Given the description of an element on the screen output the (x, y) to click on. 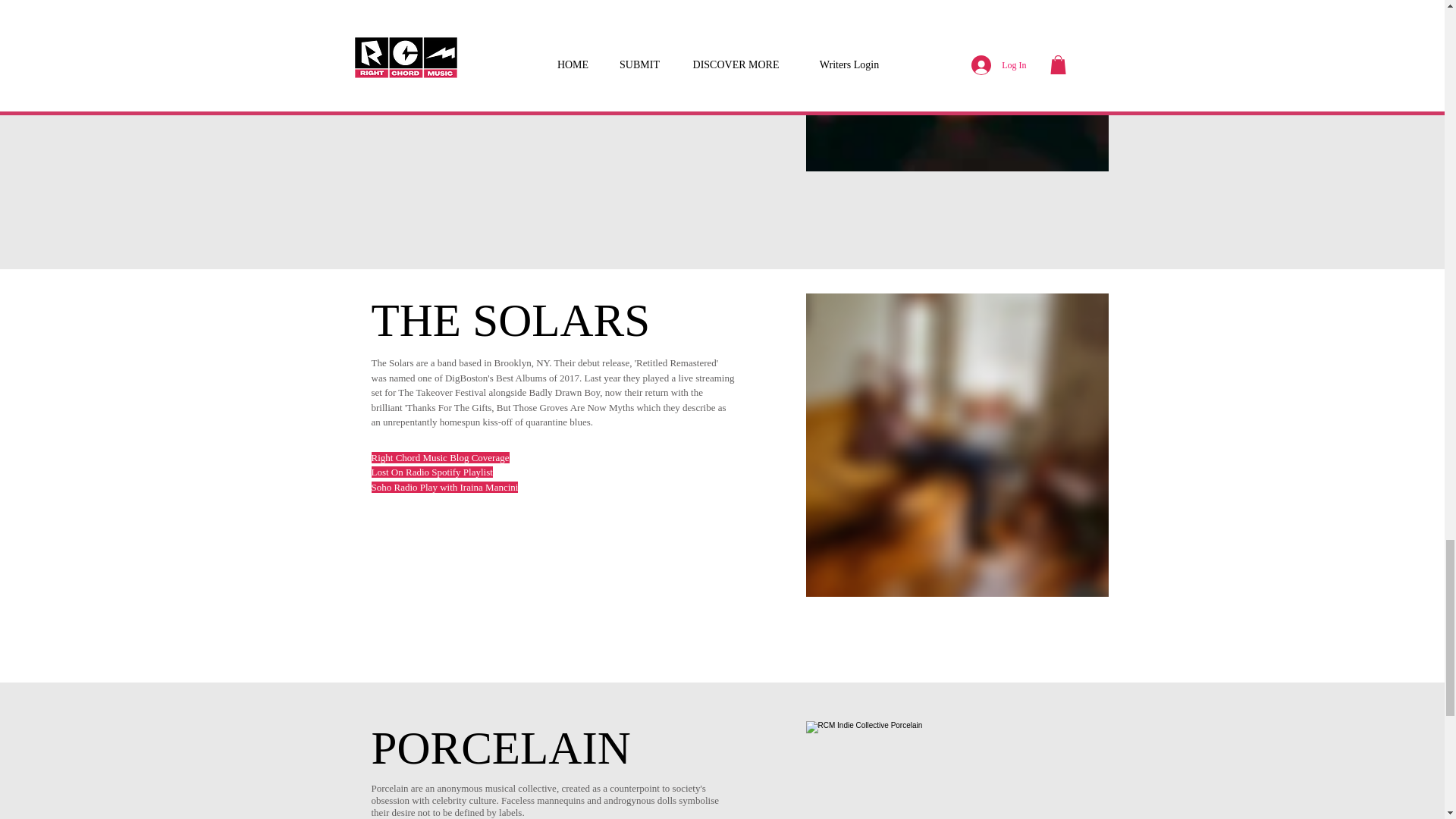
Music In Isolation Blog Coverage (438, 61)
Right Chord Music Blog Coverage (440, 457)
Soho Radio Play with Iraina Mancini (444, 487)
We Make Music Instagram Post (434, 77)
Lost On Radio Spotify Playlist (432, 32)
Lost On Radio Spotify Playlist (432, 471)
Right Chord Music Blog Coverage (440, 18)
